Given the description of an element on the screen output the (x, y) to click on. 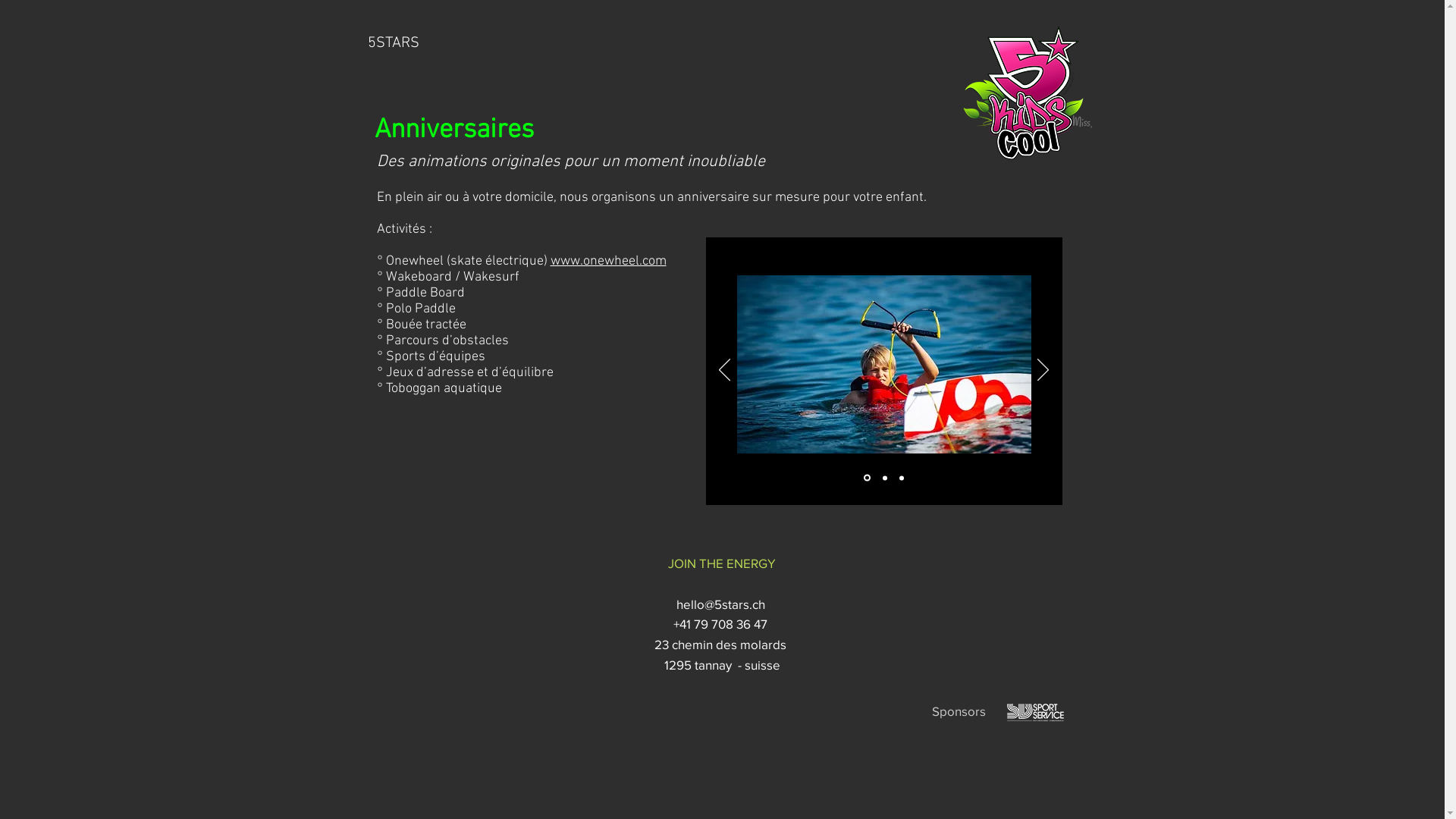
5STARS Element type: text (650, 43)
hello@5stars.ch  Element type: text (722, 603)
+41 79 708 36 47  Element type: text (721, 623)
Event Tent Element type: hover (884, 364)
www.onewheel.com Element type: text (608, 261)
